Given the description of an element on the screen output the (x, y) to click on. 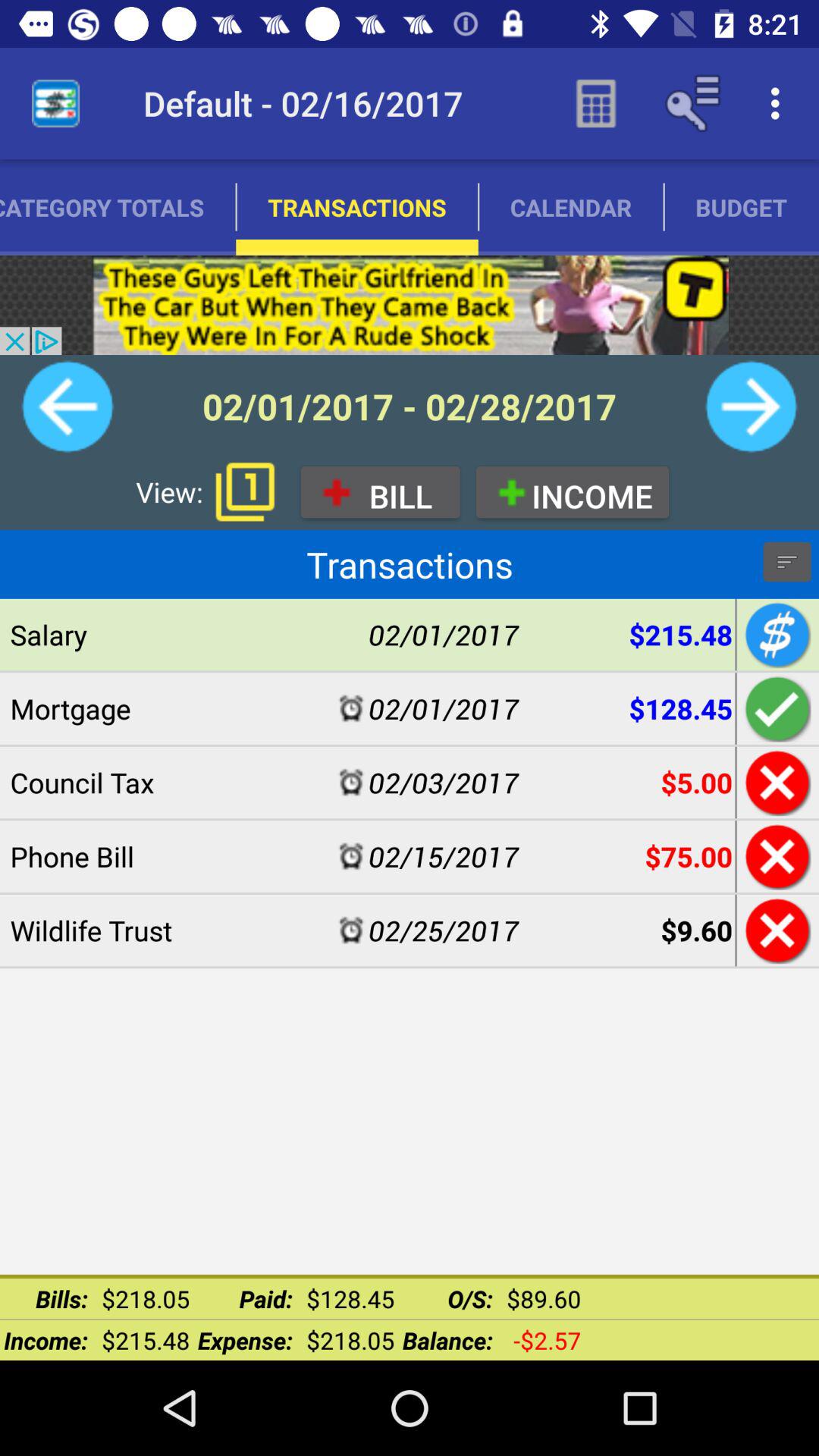
close wildlife trust transaction (775, 930)
